Given the description of an element on the screen output the (x, y) to click on. 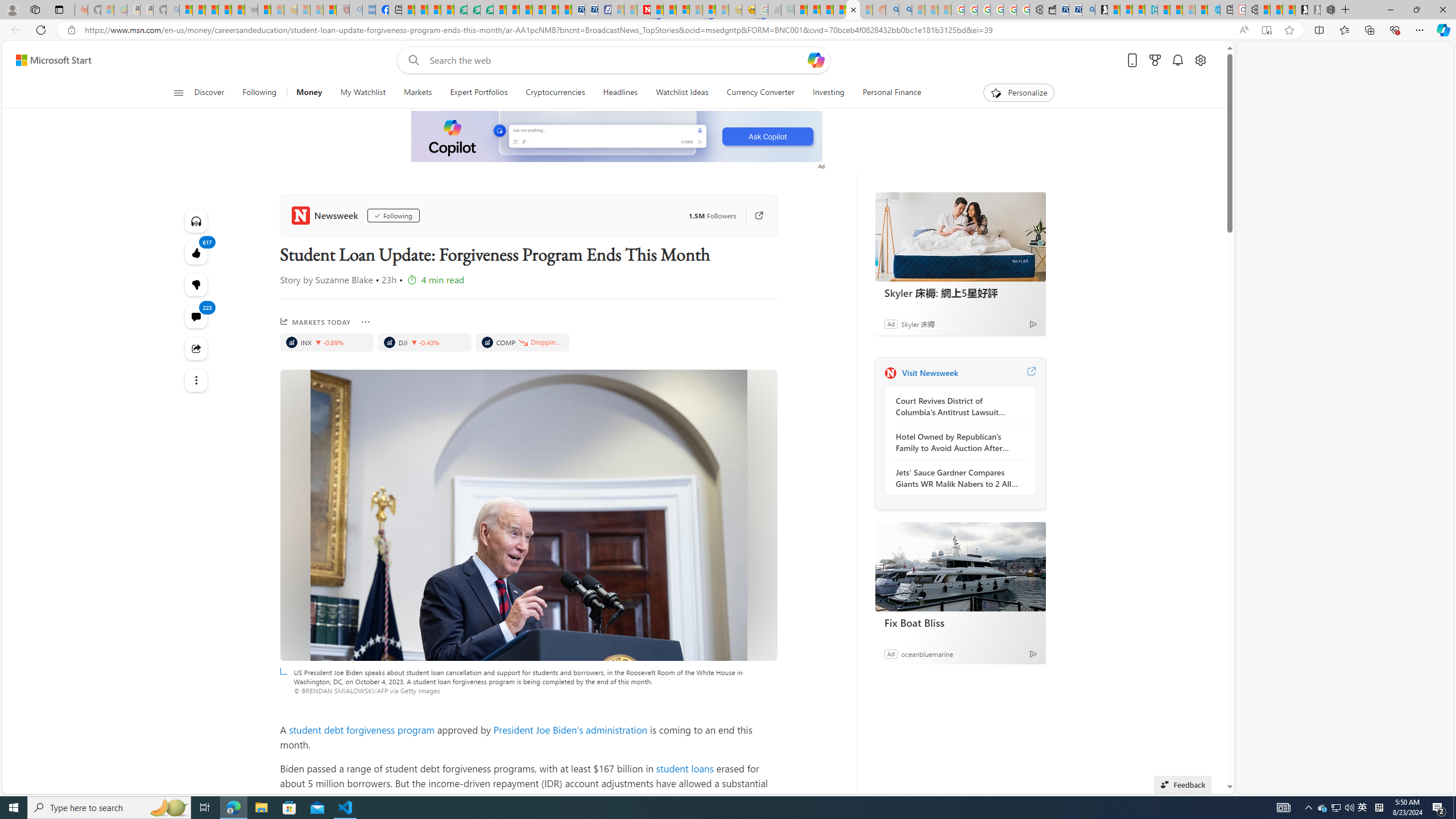
Cryptocurrencies (555, 92)
Microsoft Start - Sleeping (1188, 9)
Watchlist Ideas (681, 92)
Recipes - MSN - Sleeping (303, 9)
Navy Quest (774, 9)
Wallet (1049, 9)
Skip to content (49, 59)
